Given the description of an element on the screen output the (x, y) to click on. 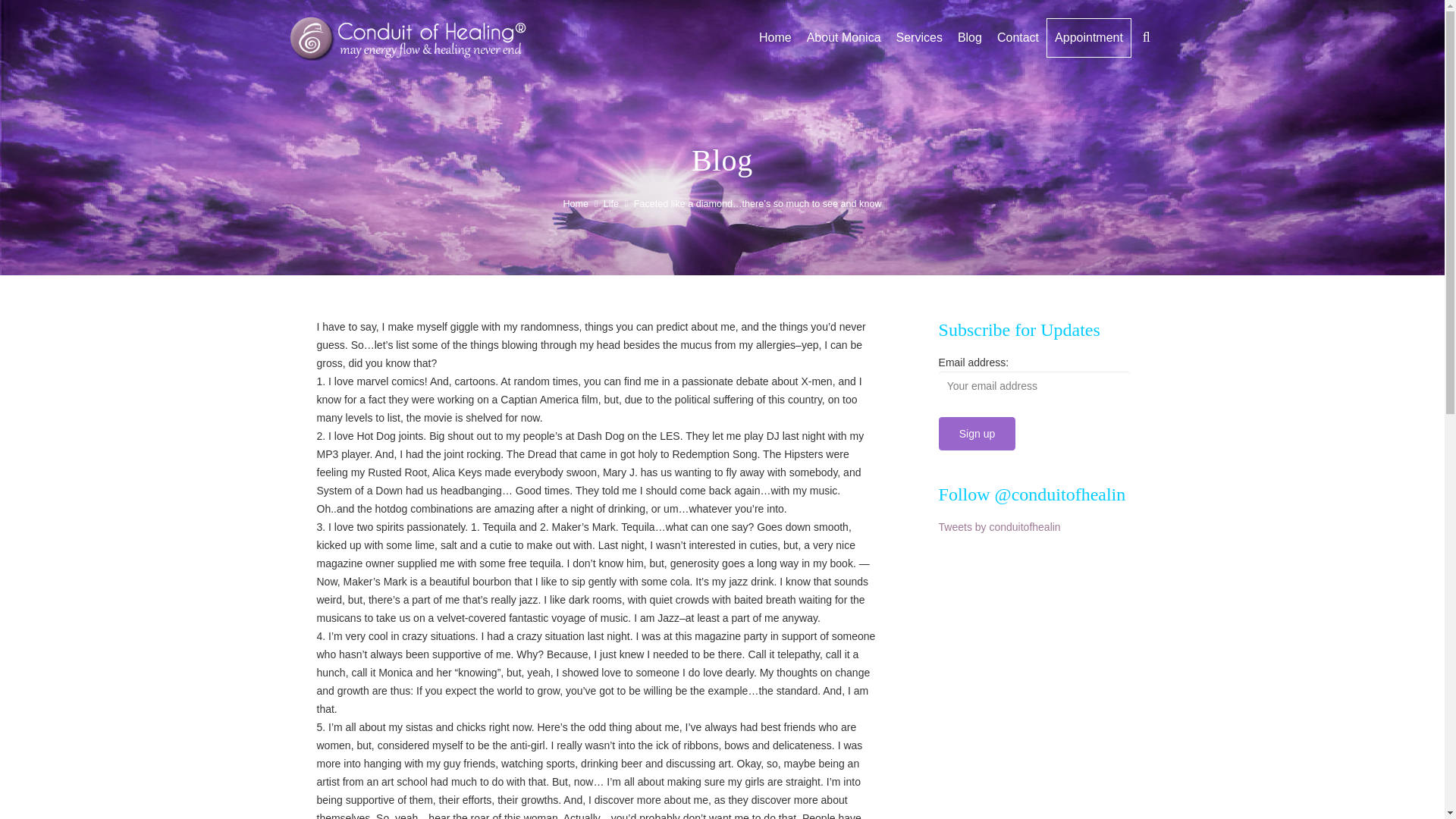
Sign up (977, 432)
Services (919, 37)
Tweets by conduitofhealin (1000, 526)
Contact (1018, 37)
About Monica (843, 37)
Blog (970, 37)
Sign up (977, 432)
Appointment (1088, 37)
Home (775, 37)
Home (575, 204)
